Given the description of an element on the screen output the (x, y) to click on. 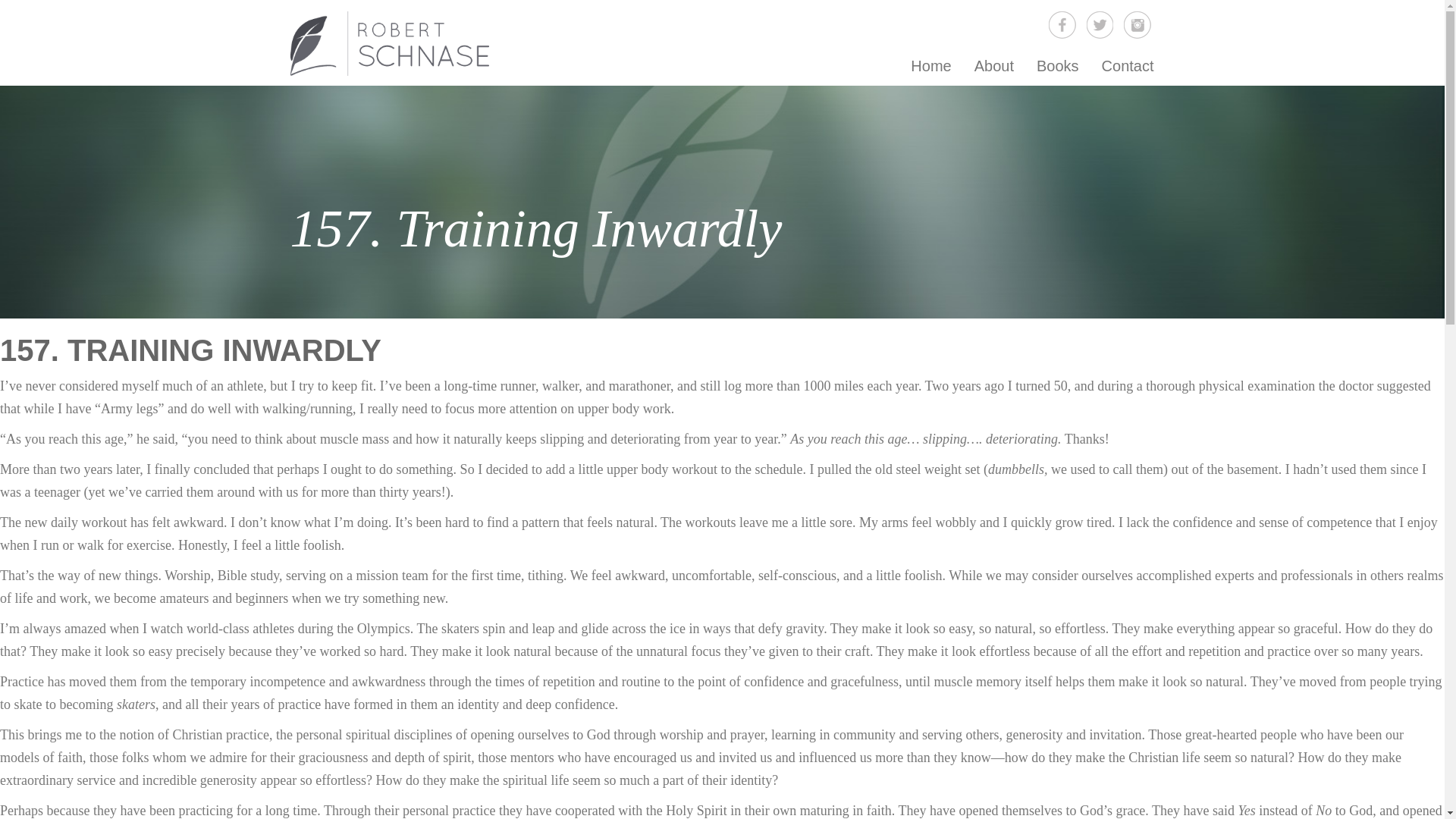
Books (1057, 65)
About (993, 65)
Home (930, 65)
Books (1057, 65)
Contact (1128, 65)
About (993, 65)
Contact (1128, 65)
Home (930, 65)
